Given the description of an element on the screen output the (x, y) to click on. 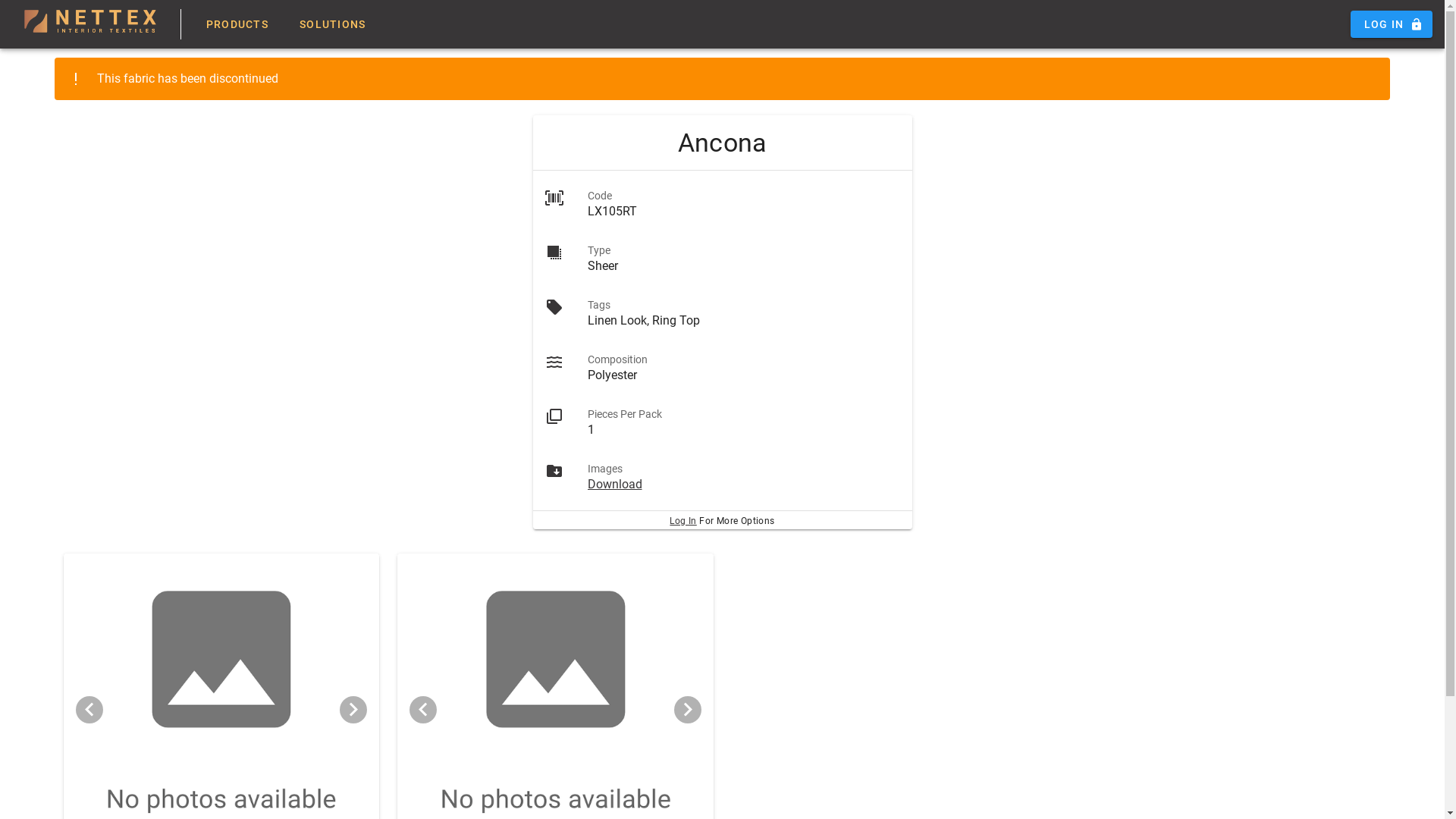
LOG IN Element type: text (1391, 23)
Download Element type: text (613, 483)
PRODUCTS Element type: text (236, 23)
Log In Element type: text (682, 520)
SOLUTIONS Element type: text (332, 23)
